Given the description of an element on the screen output the (x, y) to click on. 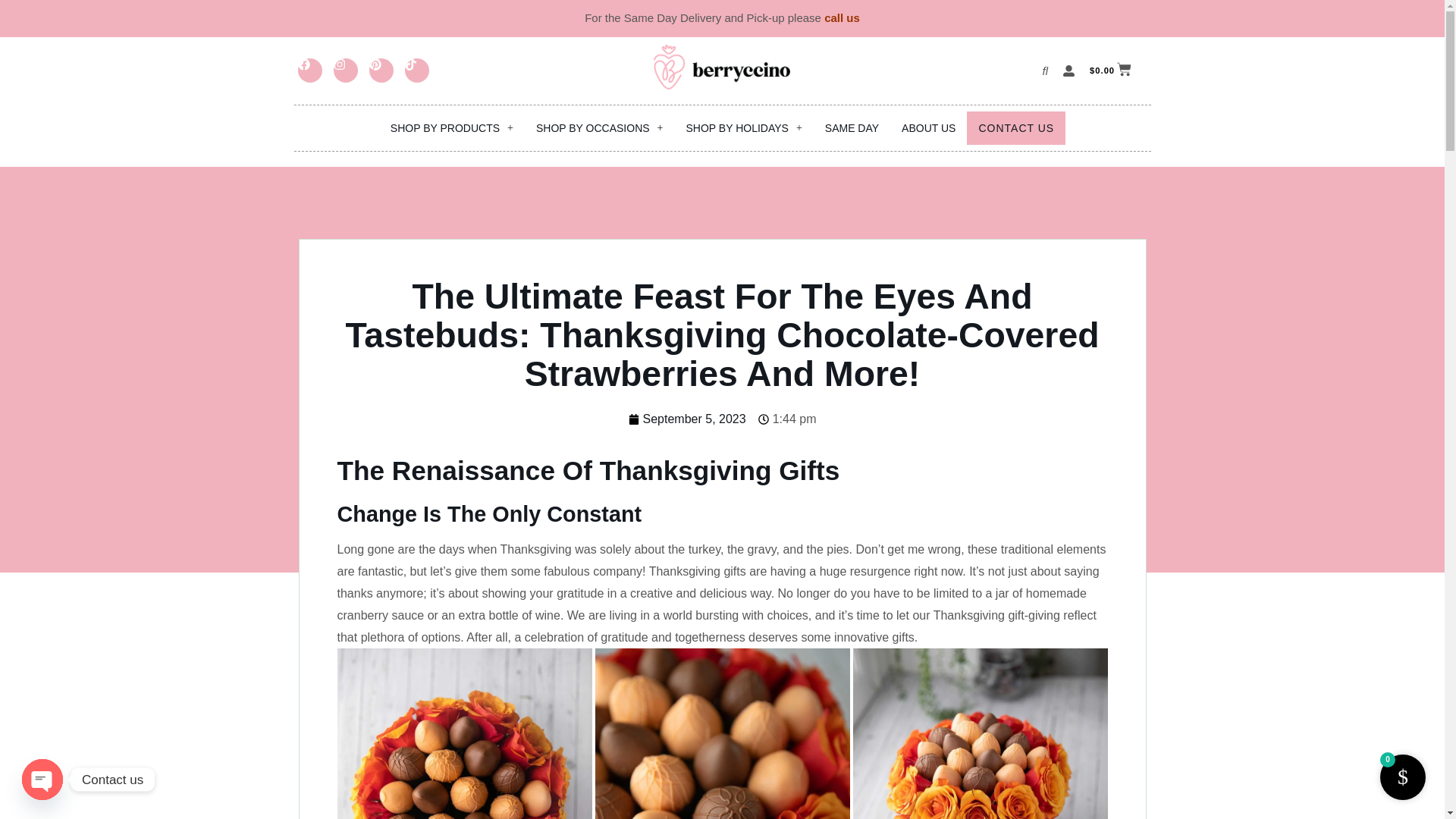
SHOP BY HOLIDAYS (744, 127)
Search (1040, 70)
call us (842, 17)
SHOP BY PRODUCTS (451, 127)
SHOP BY OCCASIONS (599, 127)
